Given the description of an element on the screen output the (x, y) to click on. 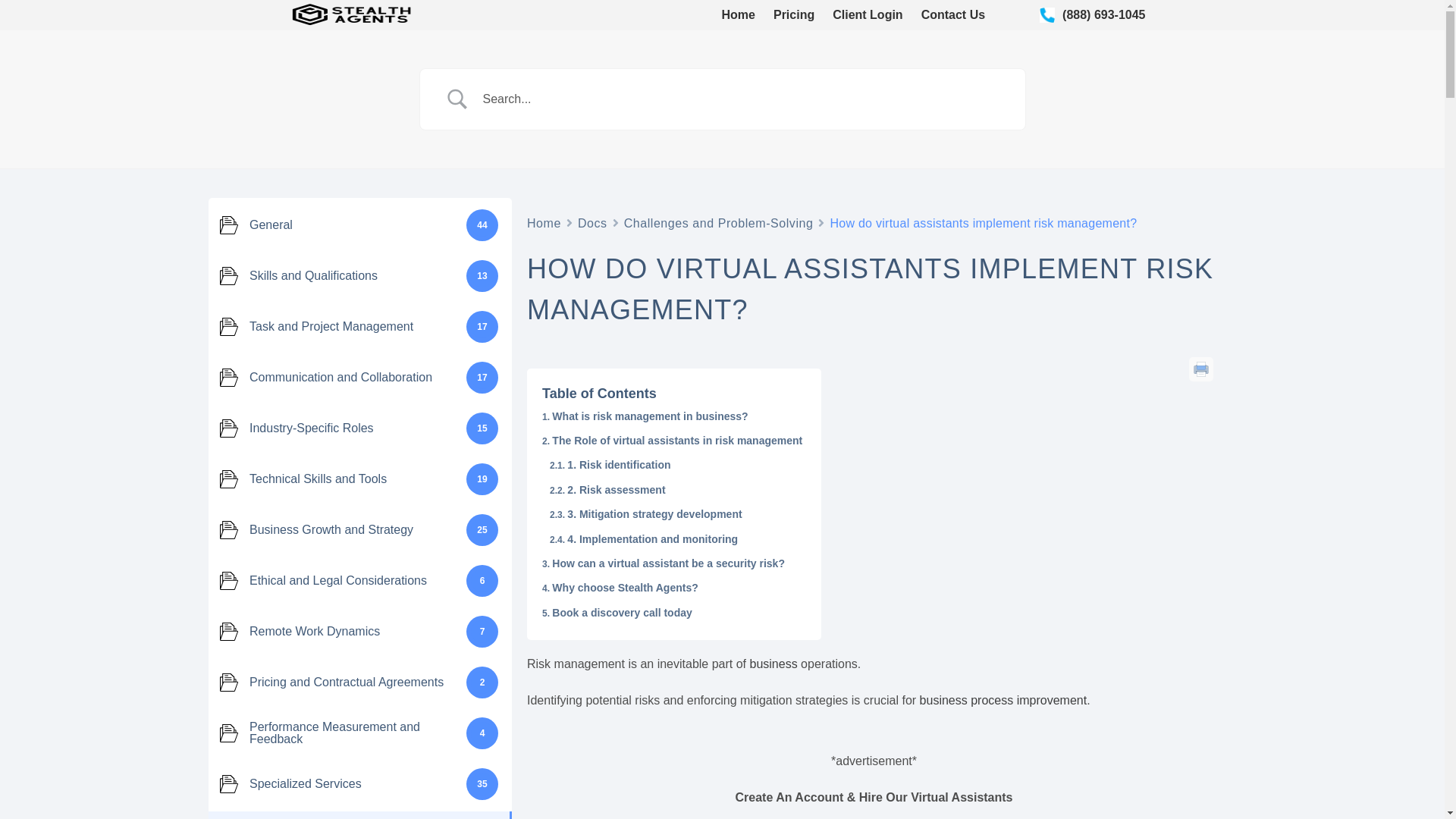
Pricing (793, 15)
Home (738, 15)
Home (543, 222)
Stealth Agents (466, 24)
Client Login (867, 15)
Challenges and Problem-Solving (718, 222)
Docs (592, 222)
Contact Us (953, 15)
